Given the description of an element on the screen output the (x, y) to click on. 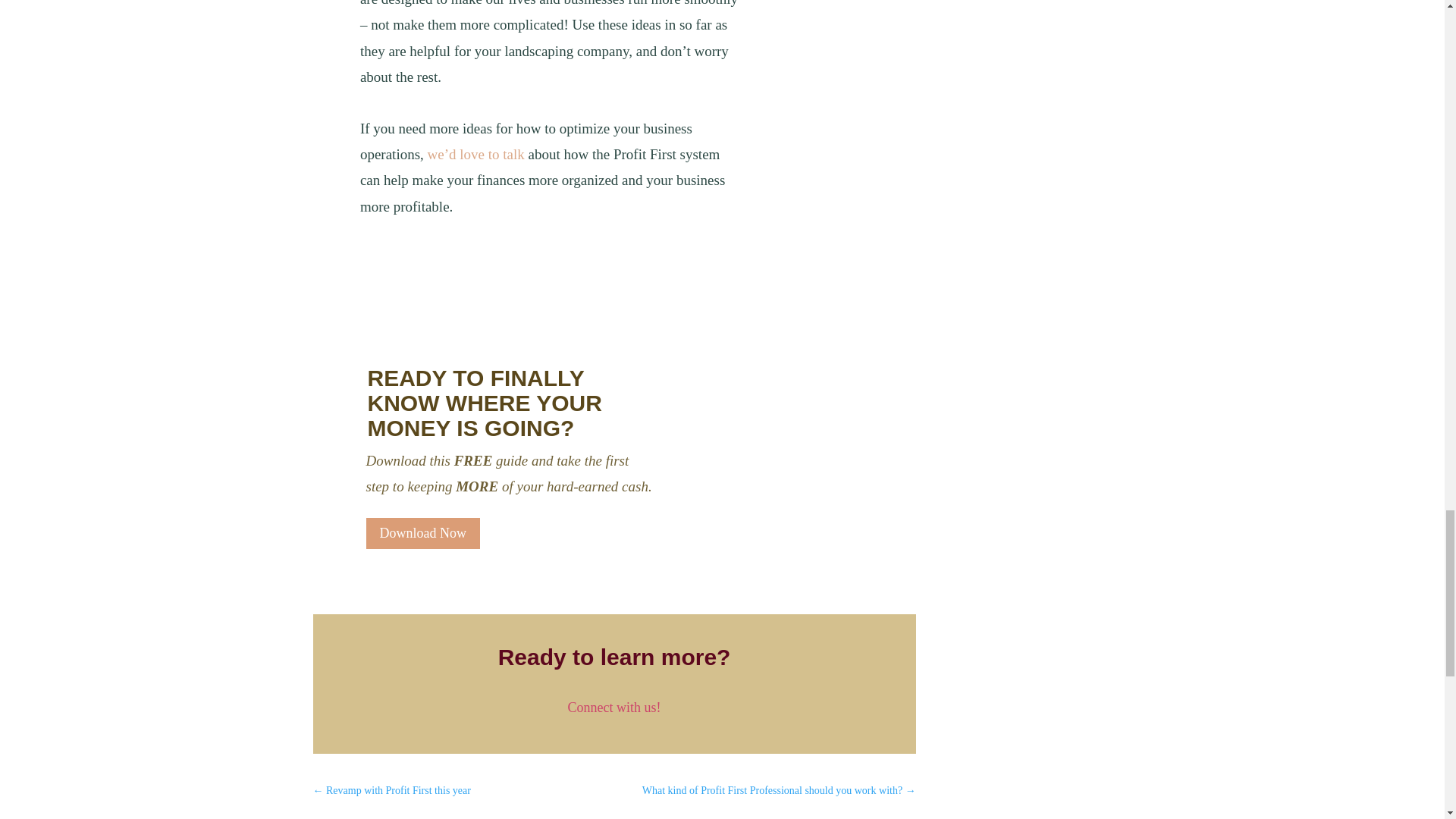
Connect with us! (614, 707)
Download Now (422, 532)
